Given the description of an element on the screen output the (x, y) to click on. 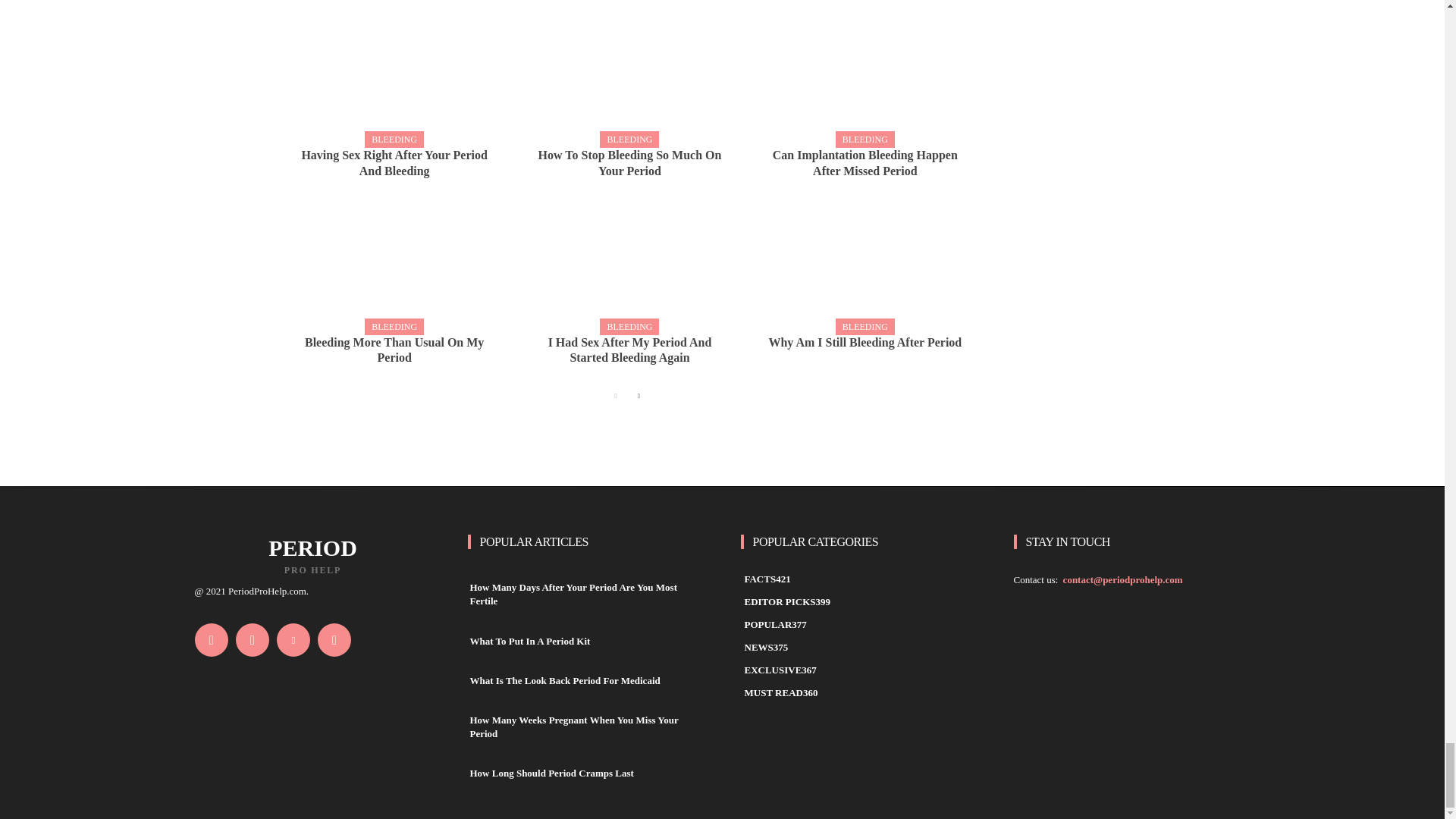
Having Sex Right After Your Period And Bleeding (393, 70)
Having Sex Right After Your Period And Bleeding (394, 163)
